Given the description of an element on the screen output the (x, y) to click on. 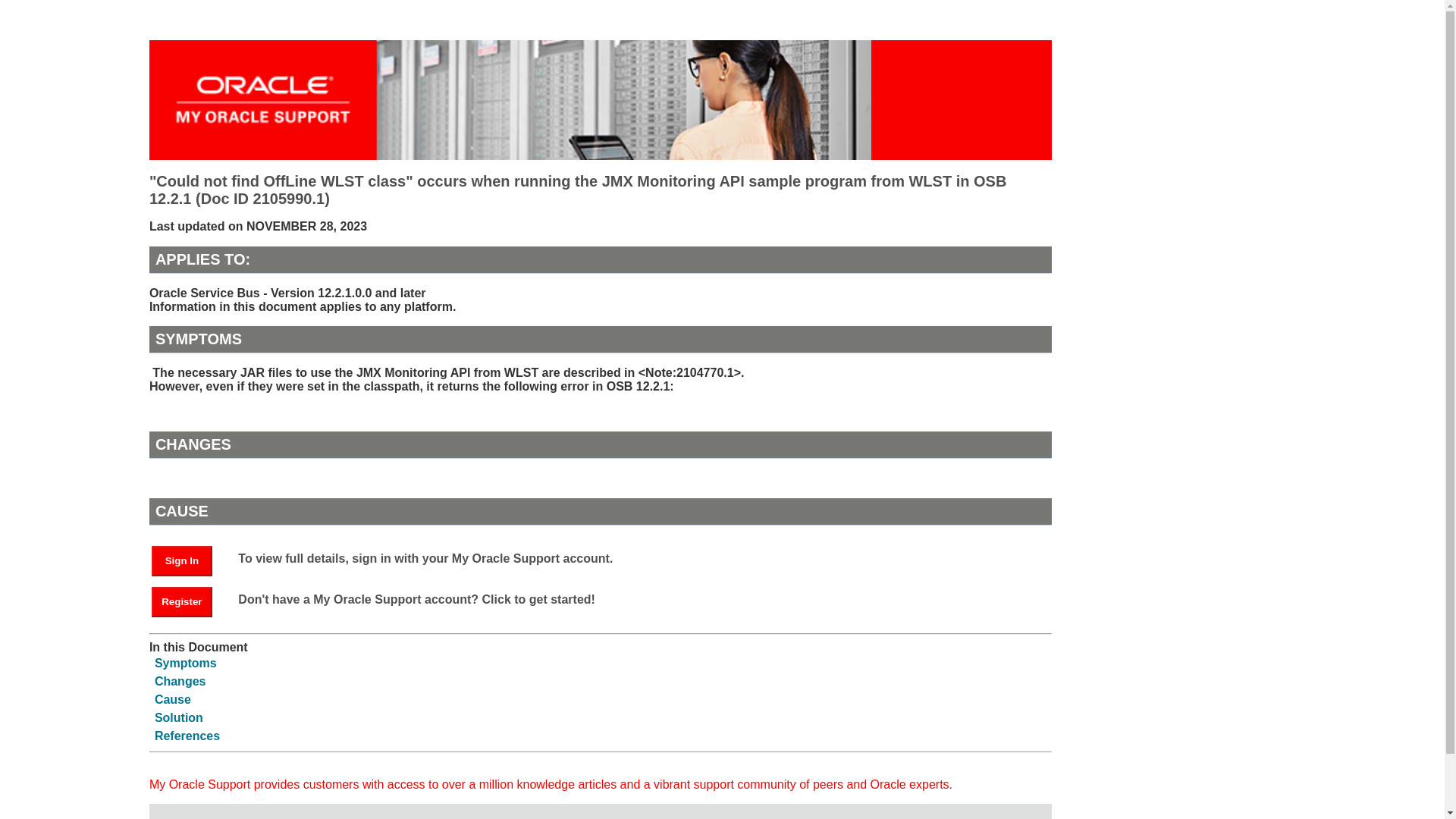
Cause (172, 698)
Changes (180, 680)
References (186, 735)
Register (181, 602)
Symptoms (185, 662)
Solution (178, 717)
Register (189, 600)
Sign In (189, 559)
Sign In (181, 561)
